Given the description of an element on the screen output the (x, y) to click on. 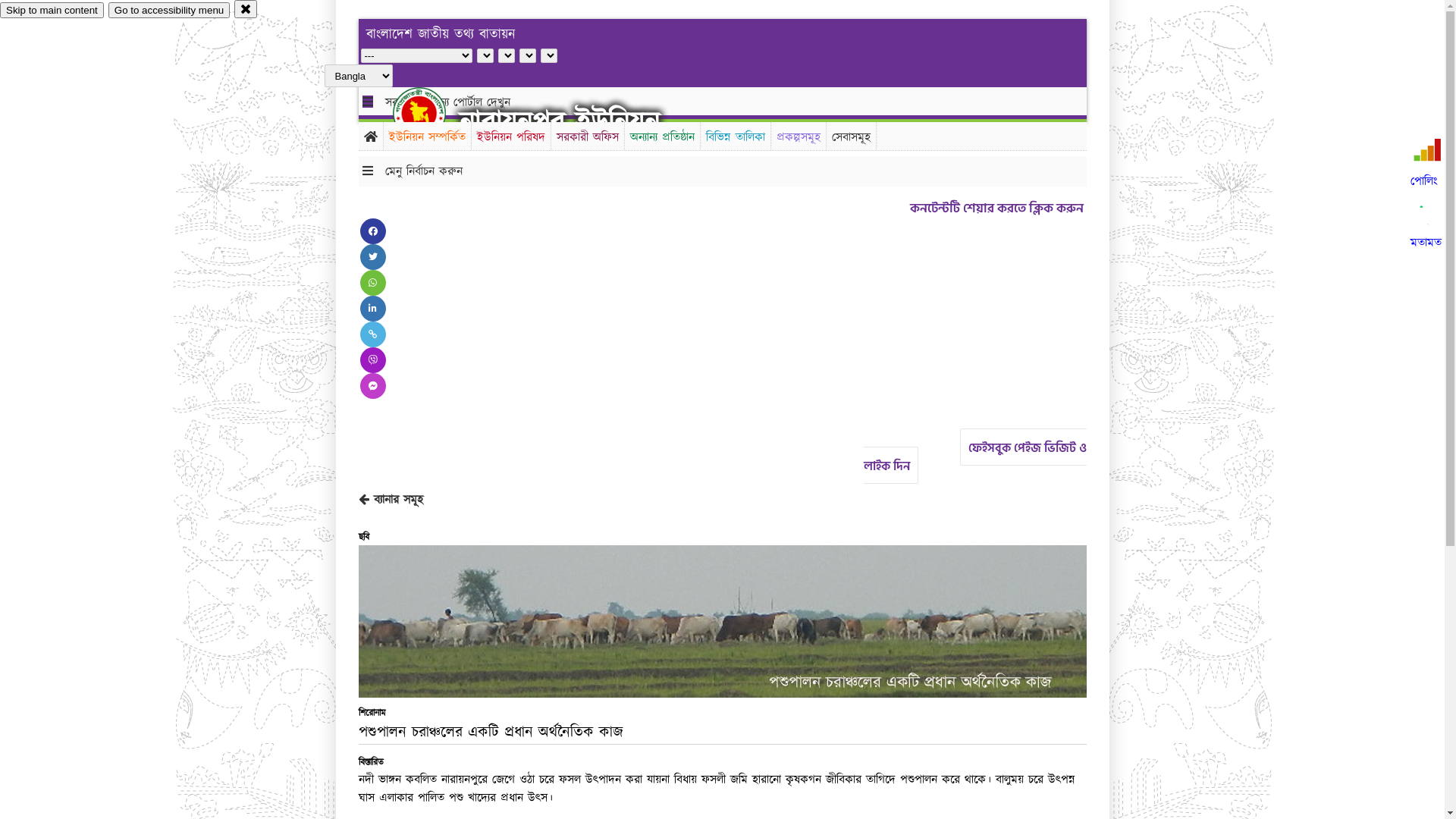
close Element type: hover (245, 9)
Go to accessibility menu Element type: text (168, 10)

                
             Element type: hover (431, 112)
Skip to main content Element type: text (51, 10)
